Given the description of an element on the screen output the (x, y) to click on. 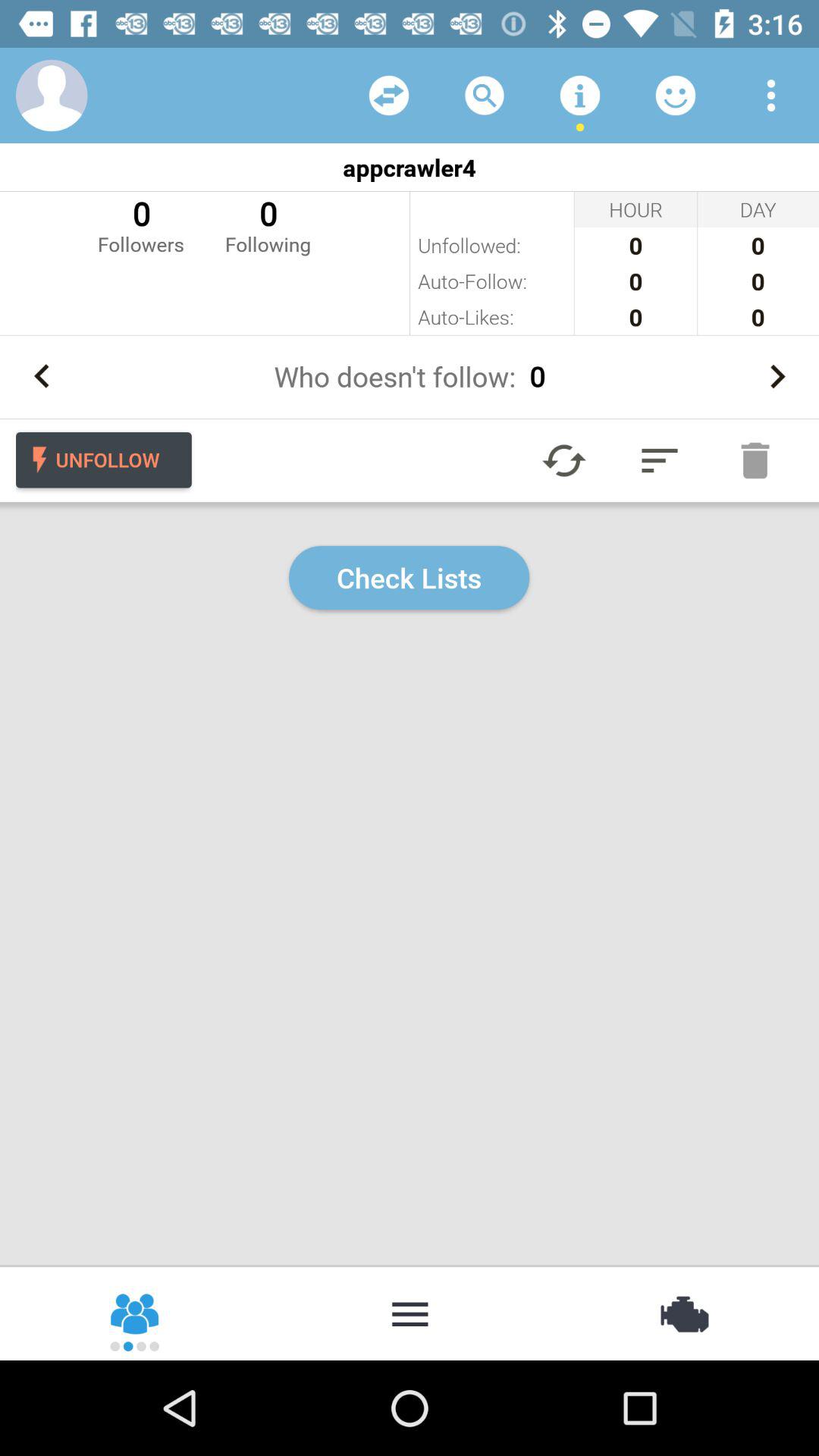
get more information (579, 95)
